Given the description of an element on the screen output the (x, y) to click on. 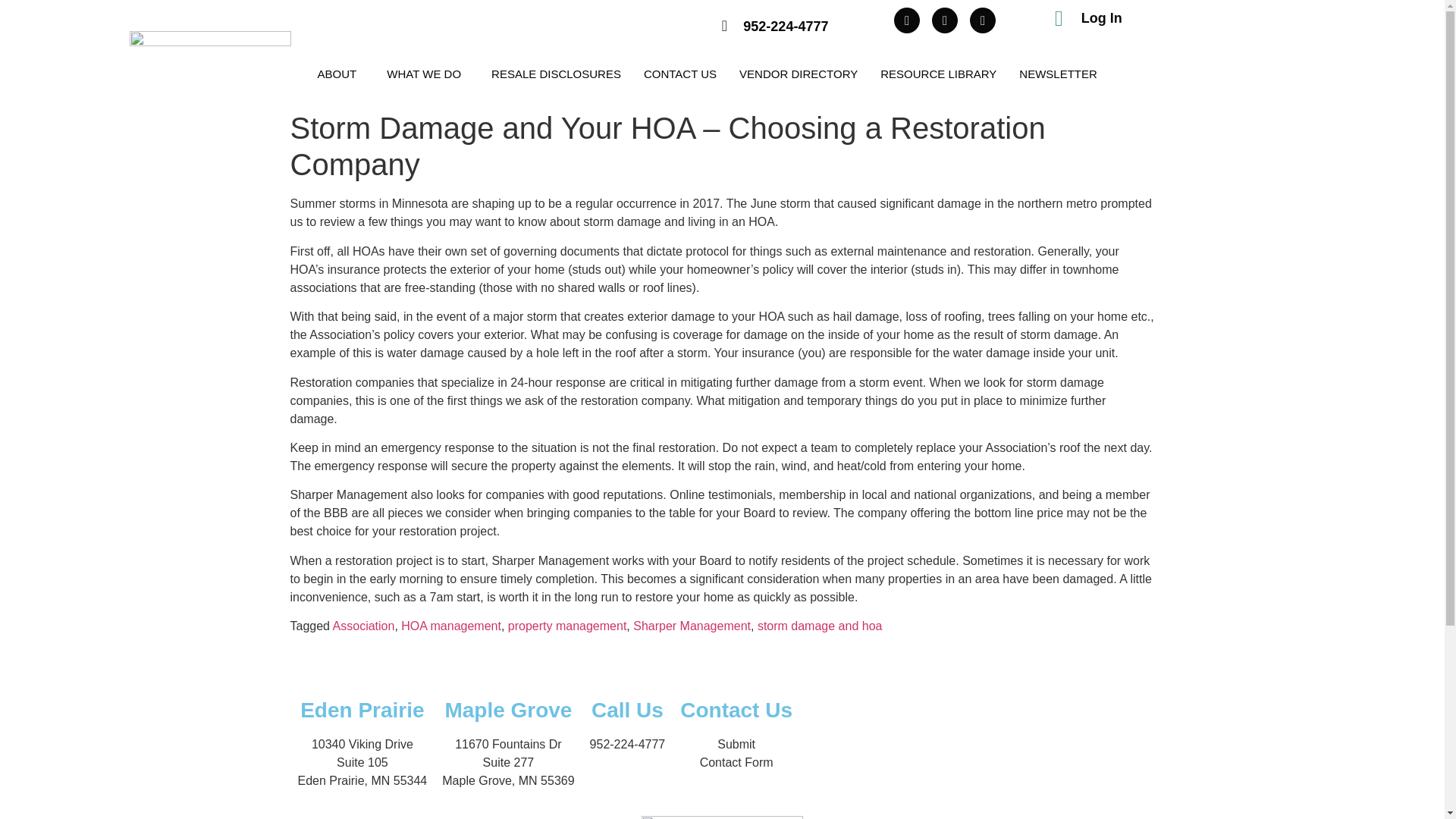
ABOUT (340, 73)
RESOURCE LIBRARY (938, 73)
WHAT WE DO (427, 73)
VENDOR DIRECTORY (798, 73)
CONTACT US (679, 73)
Log In (1101, 17)
NEWSLETTER (1057, 73)
RESALE DISCLOSURES (555, 73)
